Given the description of an element on the screen output the (x, y) to click on. 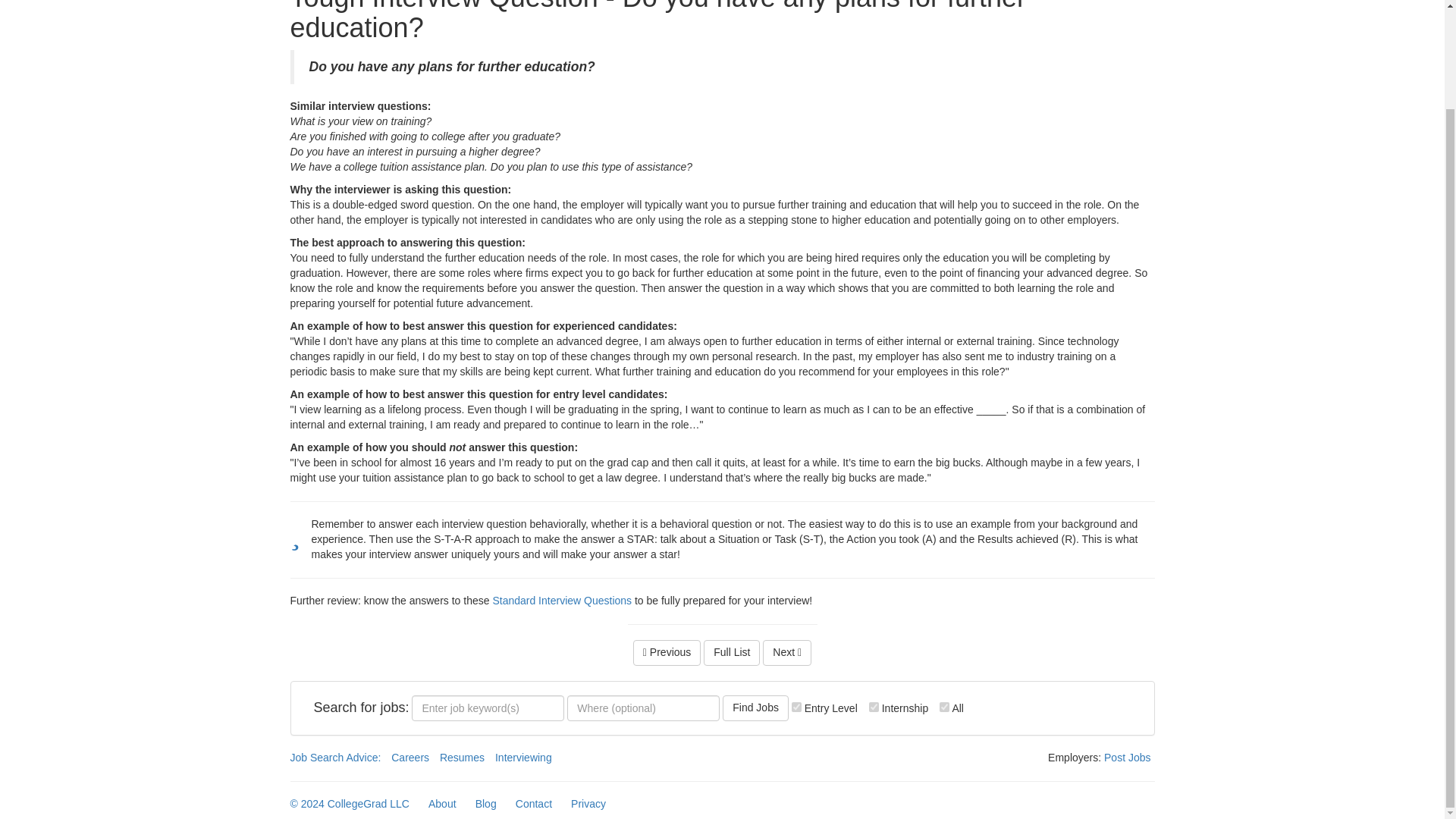
Interviewing (523, 757)
Careers (410, 757)
Next (786, 652)
4 (944, 706)
Find Jobs (755, 708)
Standard Interview Questions (561, 600)
Previous (666, 652)
Post Jobs (1126, 757)
About (442, 802)
1 (797, 706)
Full List (731, 652)
Privacy (587, 802)
Resumes (461, 757)
2 (874, 706)
Job Search Advice: (334, 757)
